Given the description of an element on the screen output the (x, y) to click on. 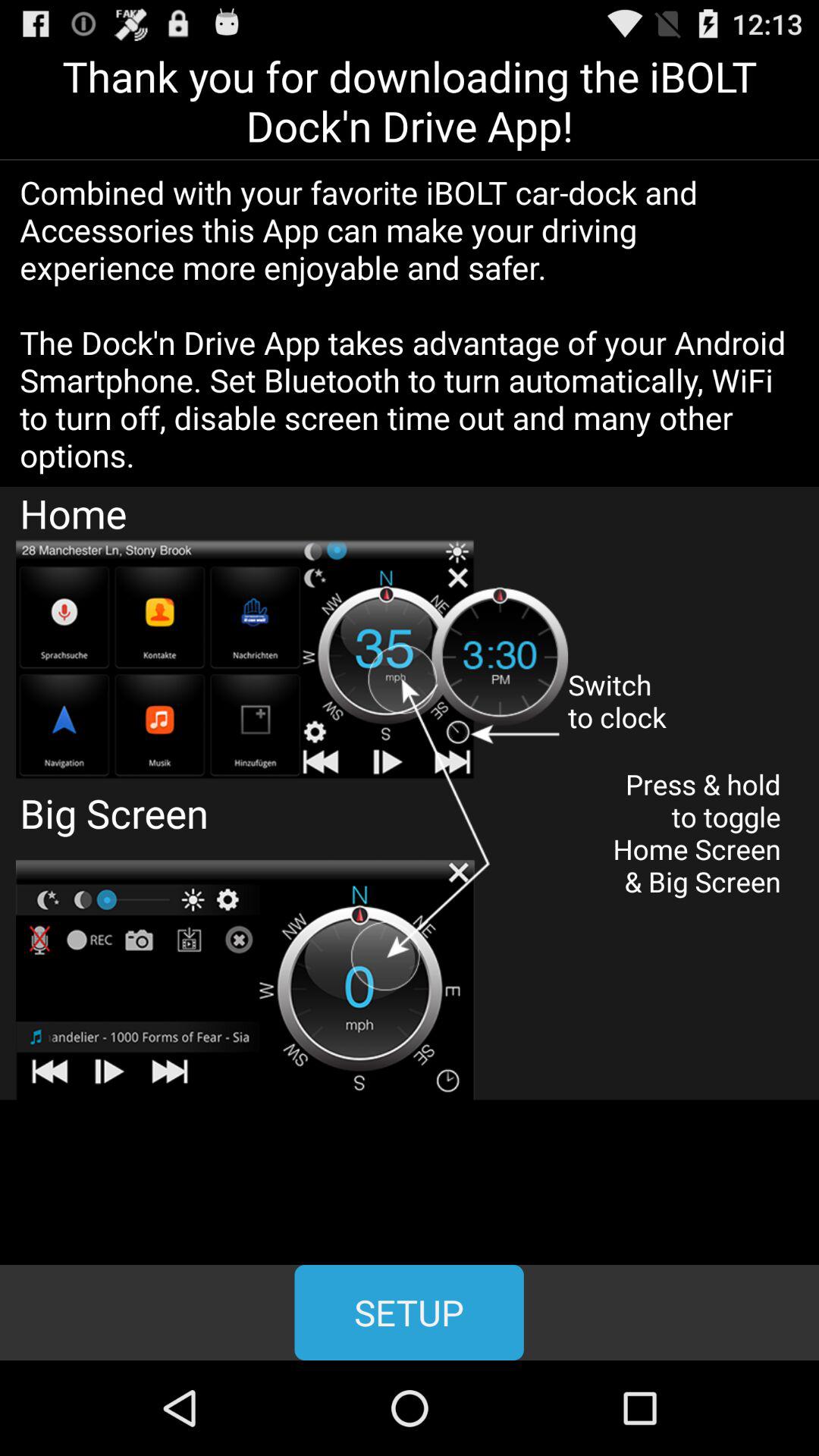
choose the button at the bottom (408, 1312)
